Given the description of an element on the screen output the (x, y) to click on. 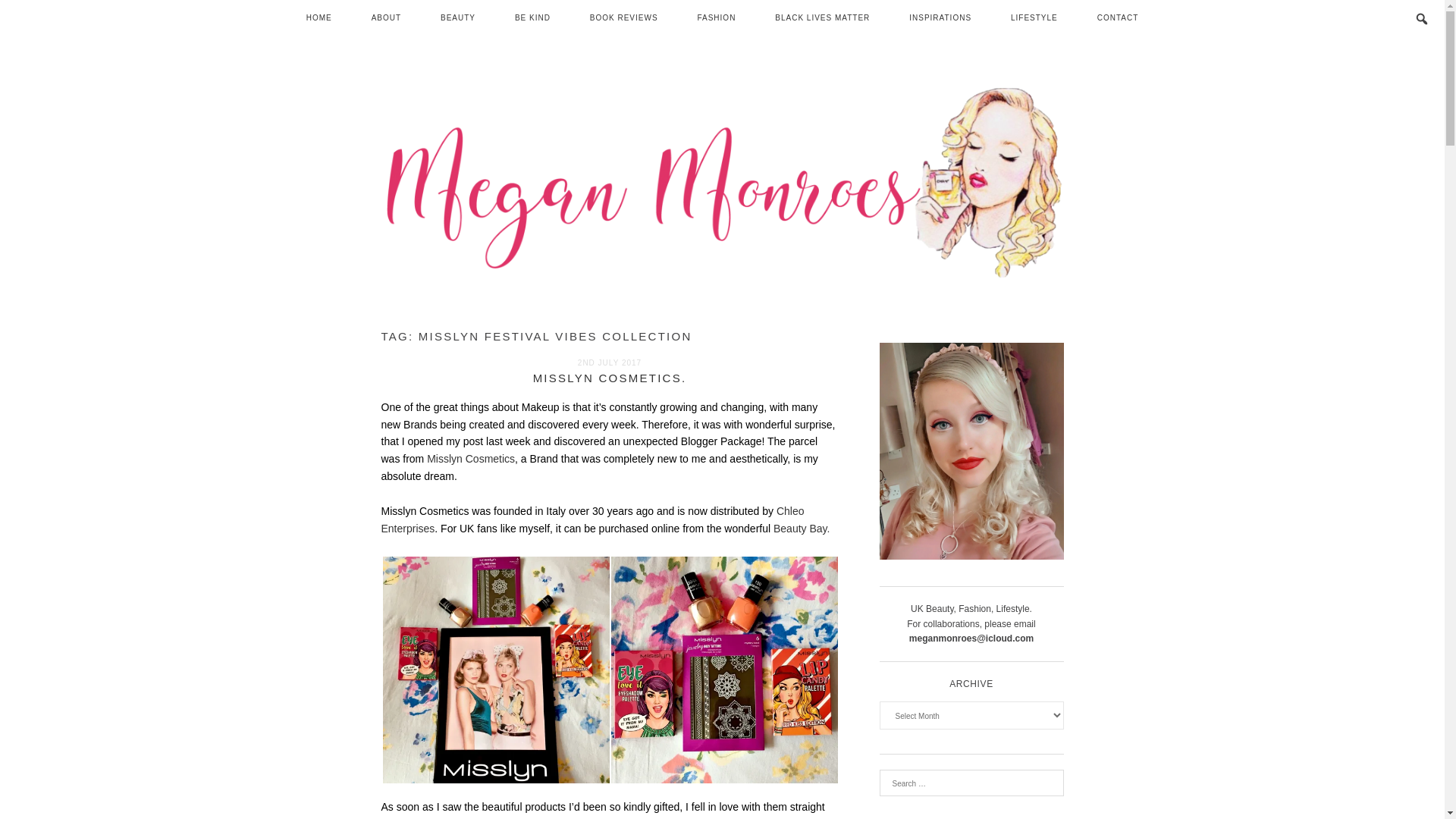
INSPIRATIONS (940, 18)
FASHION (716, 18)
Beauty Bay (800, 528)
MISSLYN COSMETICS. (609, 377)
BLACK LIVES MATTER (822, 18)
BOOK REVIEWS (624, 18)
HOME (319, 18)
BE KIND (532, 18)
Misslyn Cosmetics (470, 458)
CONTACT (1117, 18)
ABOUT (386, 18)
LIFESTYLE (1033, 18)
2ND JULY 2017 (610, 362)
Chleo Enterprises (591, 519)
BEAUTY (457, 18)
